Given the description of an element on the screen output the (x, y) to click on. 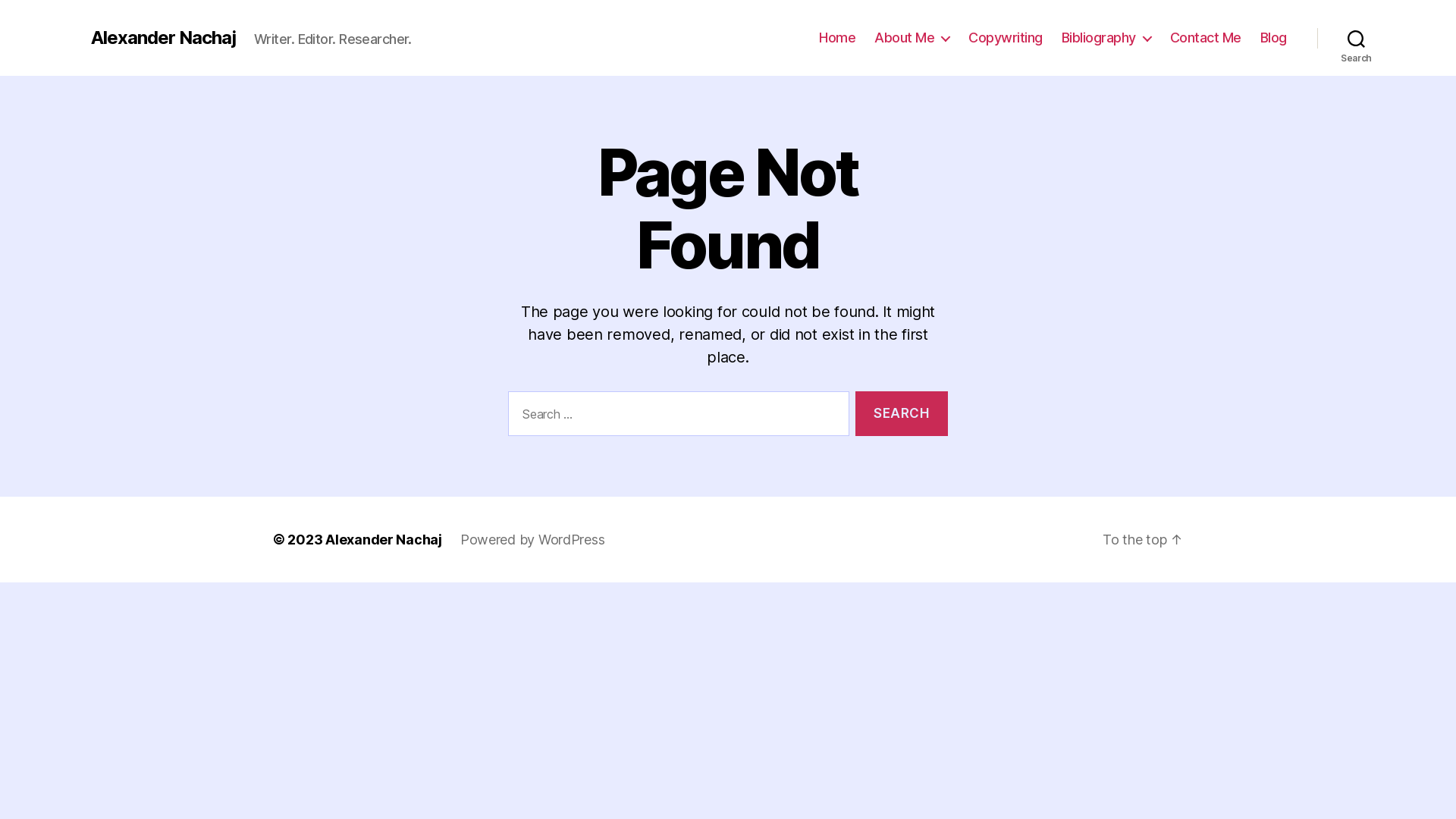
Bibliography Element type: text (1106, 37)
Home Element type: text (837, 37)
Search Element type: text (1356, 37)
Alexander Nachaj Element type: text (163, 37)
Search Element type: text (901, 413)
Contact Me Element type: text (1205, 37)
Powered by WordPress Element type: text (532, 539)
About Me Element type: text (911, 37)
Alexander Nachaj Element type: text (383, 539)
Copywriting Element type: text (1005, 37)
Blog Element type: text (1273, 37)
